Given the description of an element on the screen output the (x, y) to click on. 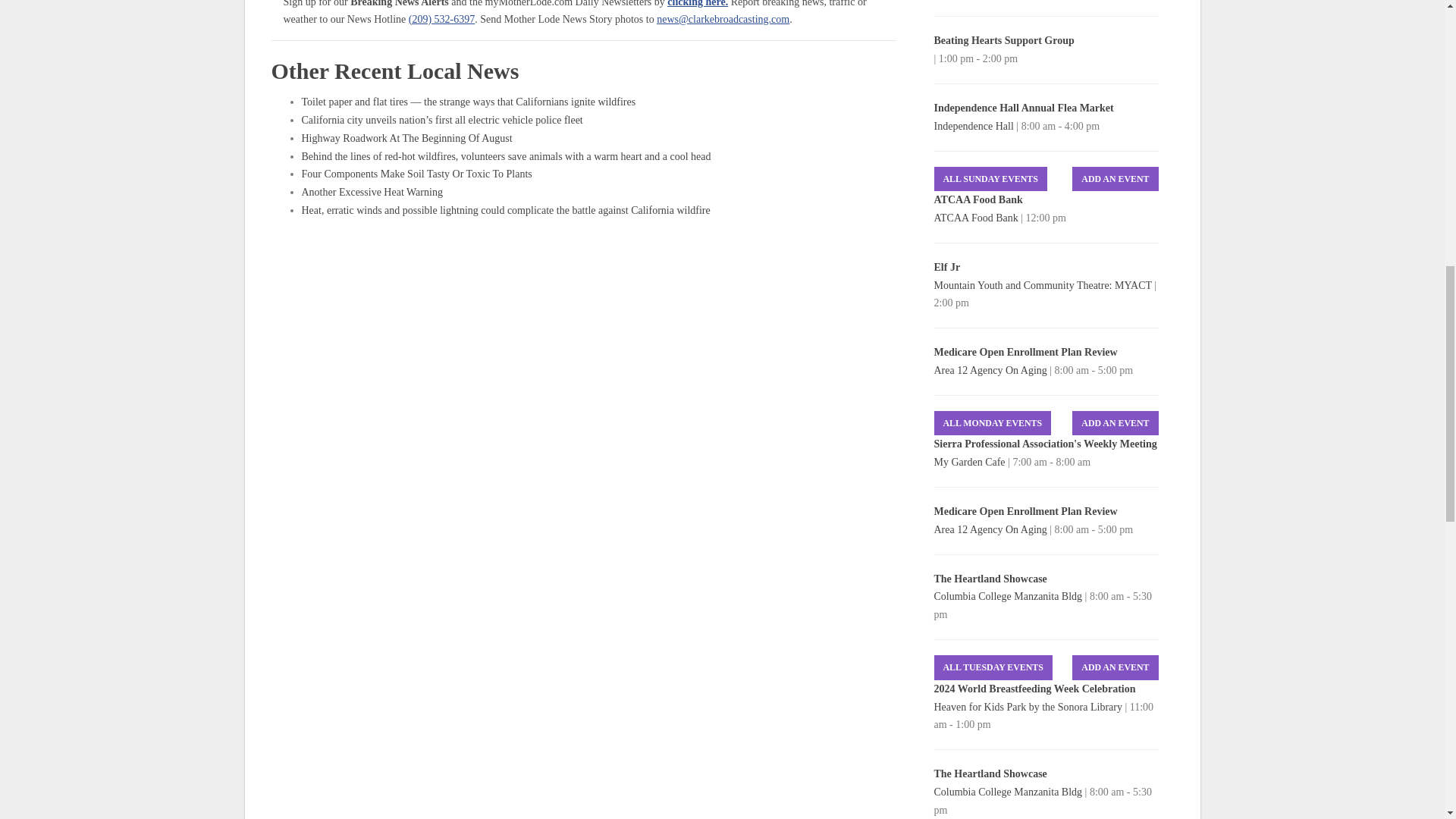
All Sunday Events (990, 179)
Add An Event (1114, 179)
Add An Event (1114, 423)
All Monday Events (992, 423)
All Tuesday Events (993, 667)
Add An Event (1114, 667)
